Given the description of an element on the screen output the (x, y) to click on. 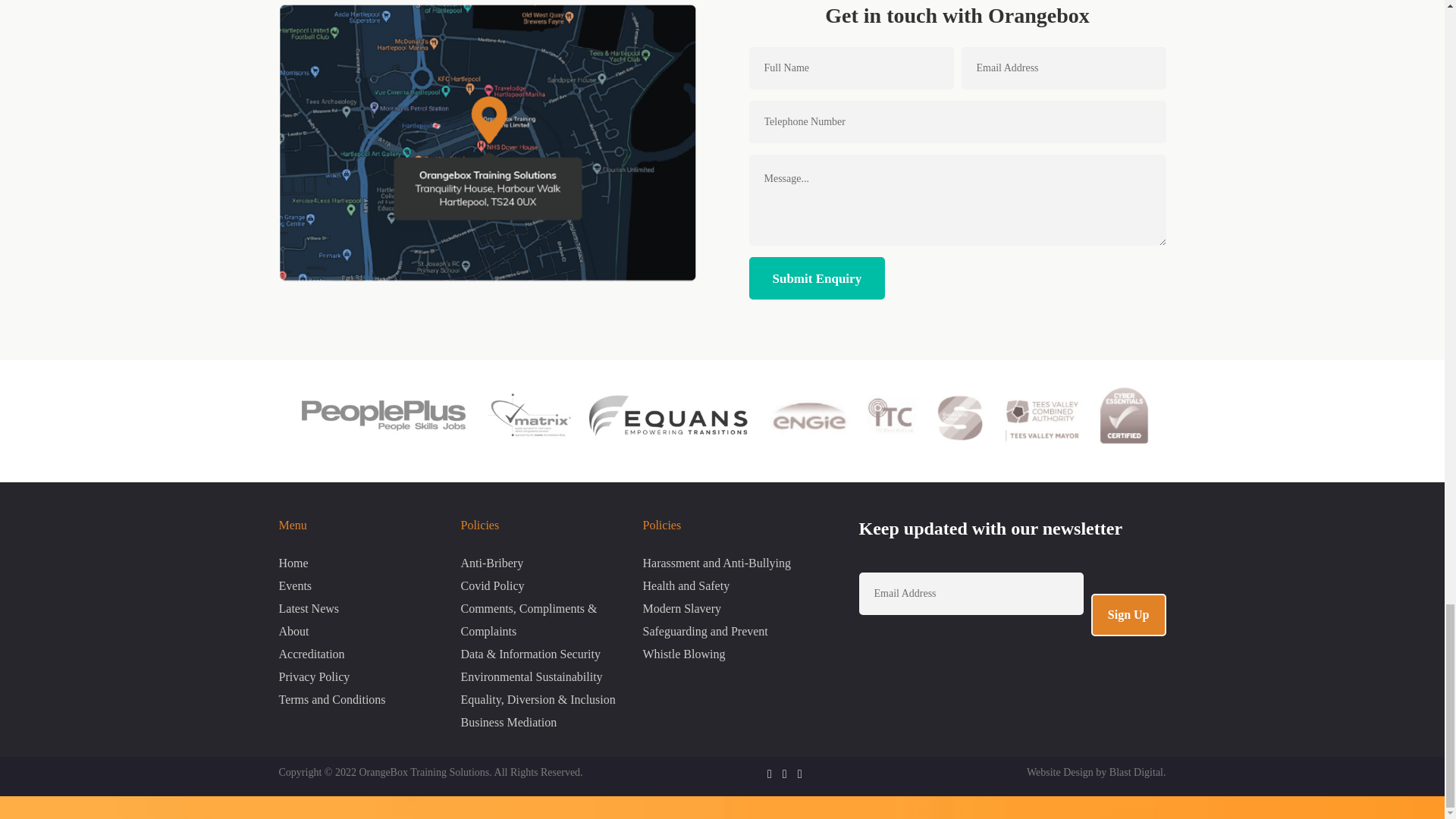
Submit Enquiry (817, 278)
